Given the description of an element on the screen output the (x, y) to click on. 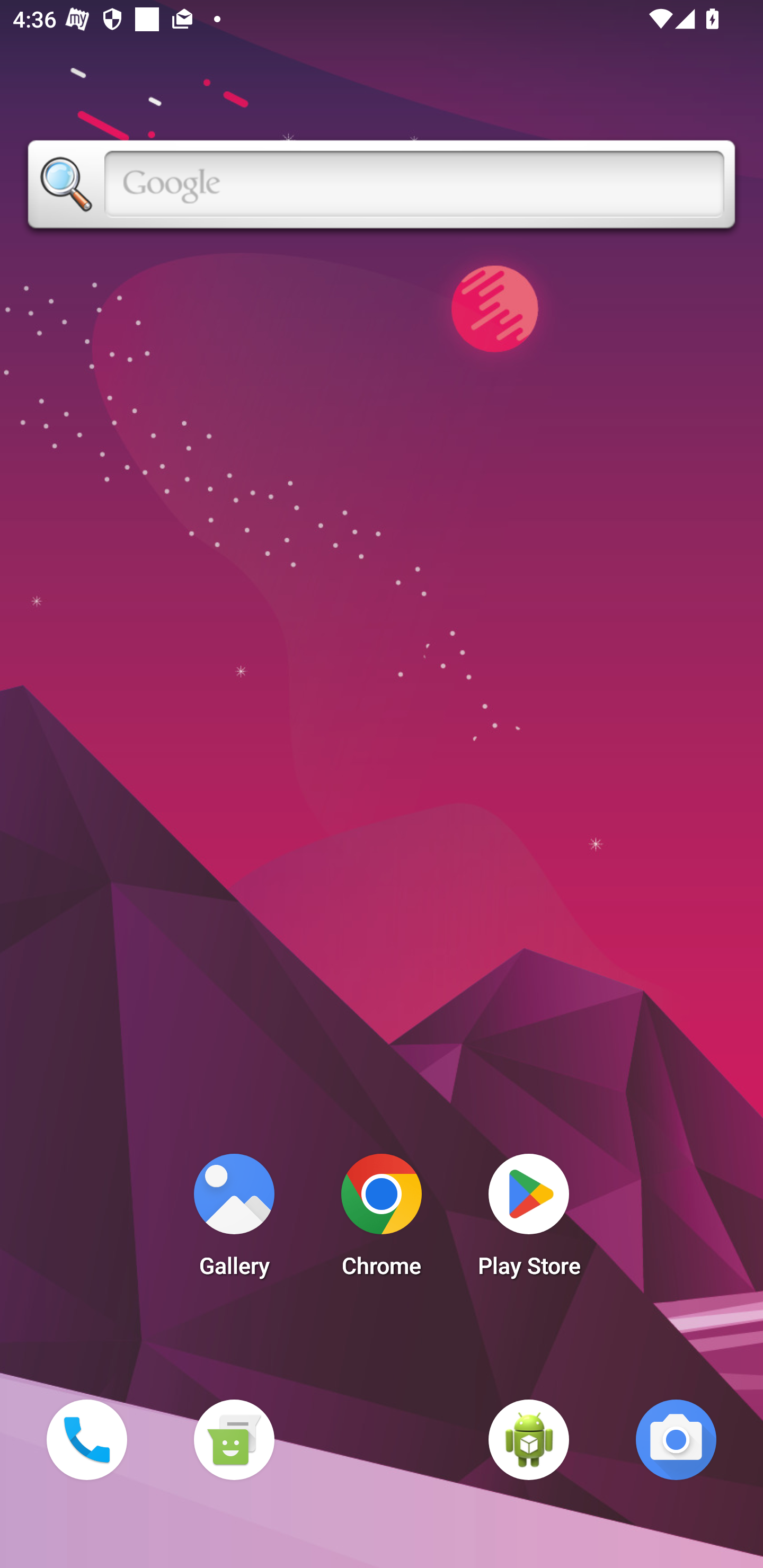
Gallery (233, 1220)
Chrome (381, 1220)
Play Store (528, 1220)
Phone (86, 1439)
Messaging (233, 1439)
WebView Browser Tester (528, 1439)
Camera (676, 1439)
